Given the description of an element on the screen output the (x, y) to click on. 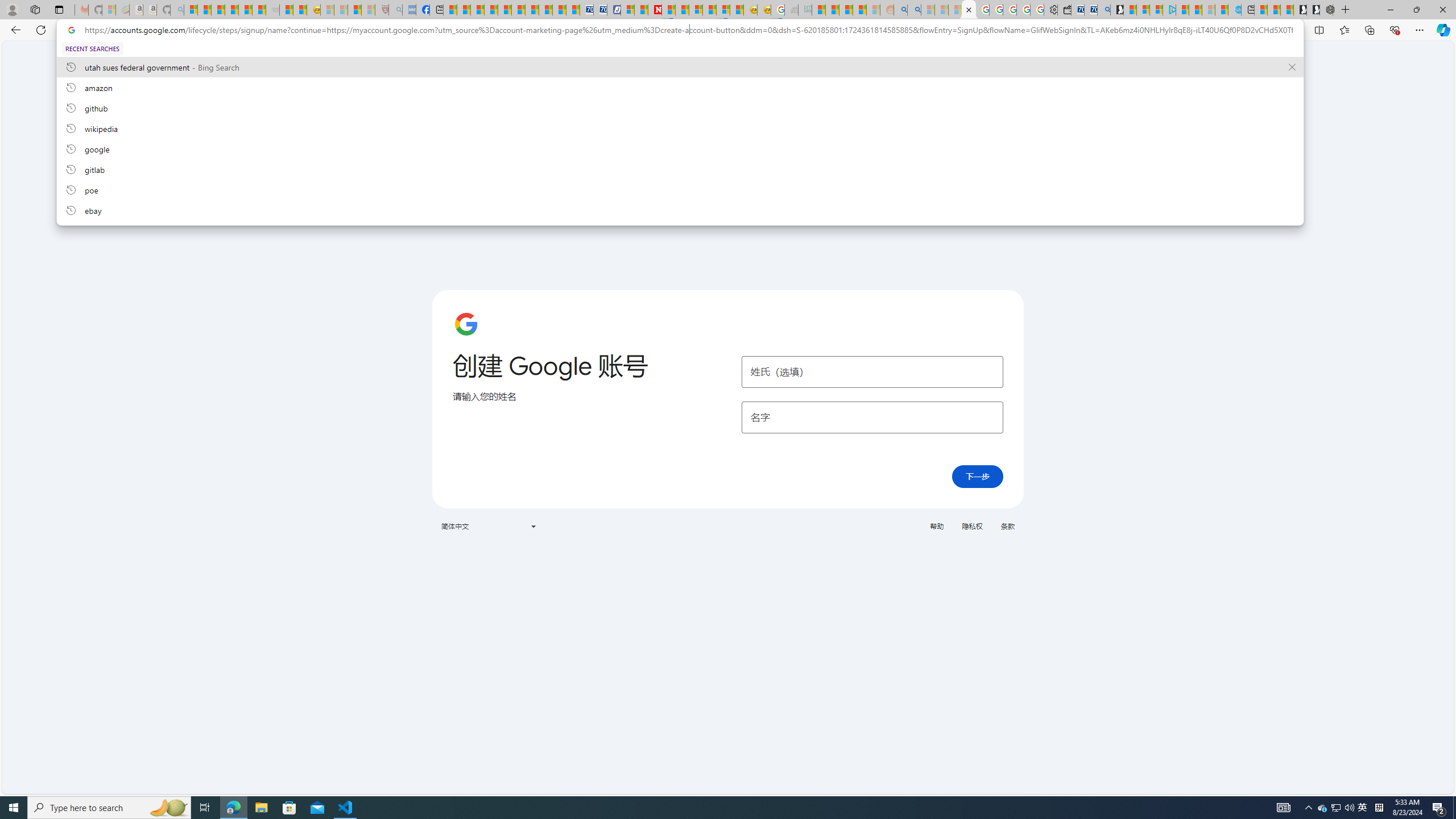
Nordace - Nordace Siena Is Not An Ordinary Backpack (1326, 9)
Remove suggestion (1291, 66)
The Weather Channel - MSN (218, 9)
Cheap Car Rentals - Save70.com (1090, 9)
Cheap Hotels - Save70.com (599, 9)
utah sues federal government, recent searches from history (679, 66)
gitlab, recent searches from history (679, 168)
